Given the description of an element on the screen output the (x, y) to click on. 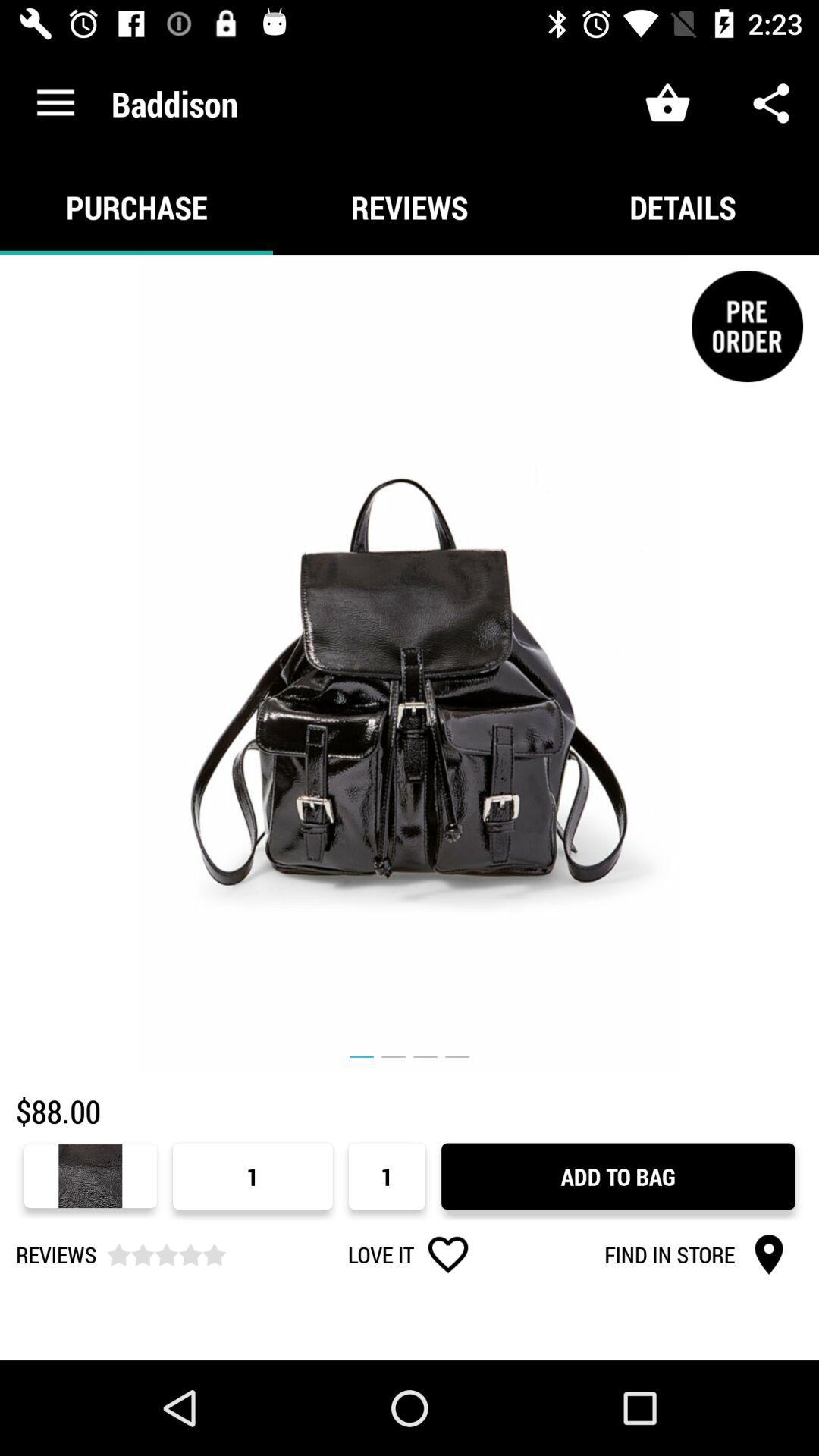
press the icon above details icon (771, 103)
